Given the description of an element on the screen output the (x, y) to click on. 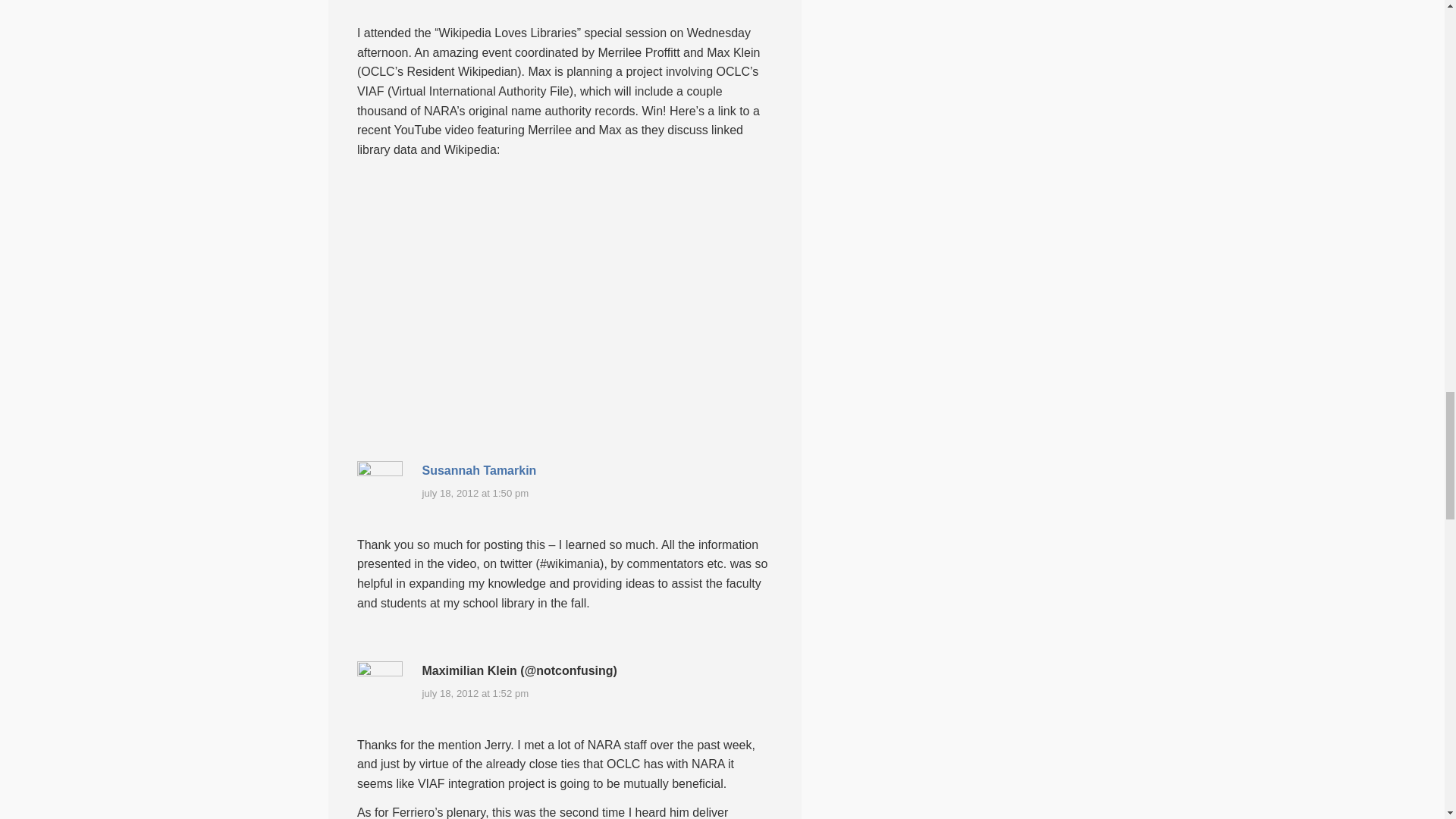
july 18, 2012 at 1:52 pm (475, 693)
july 18, 2012 at 1:50 pm (475, 493)
Susannah Tamarkin (478, 470)
